Given the description of an element on the screen output the (x, y) to click on. 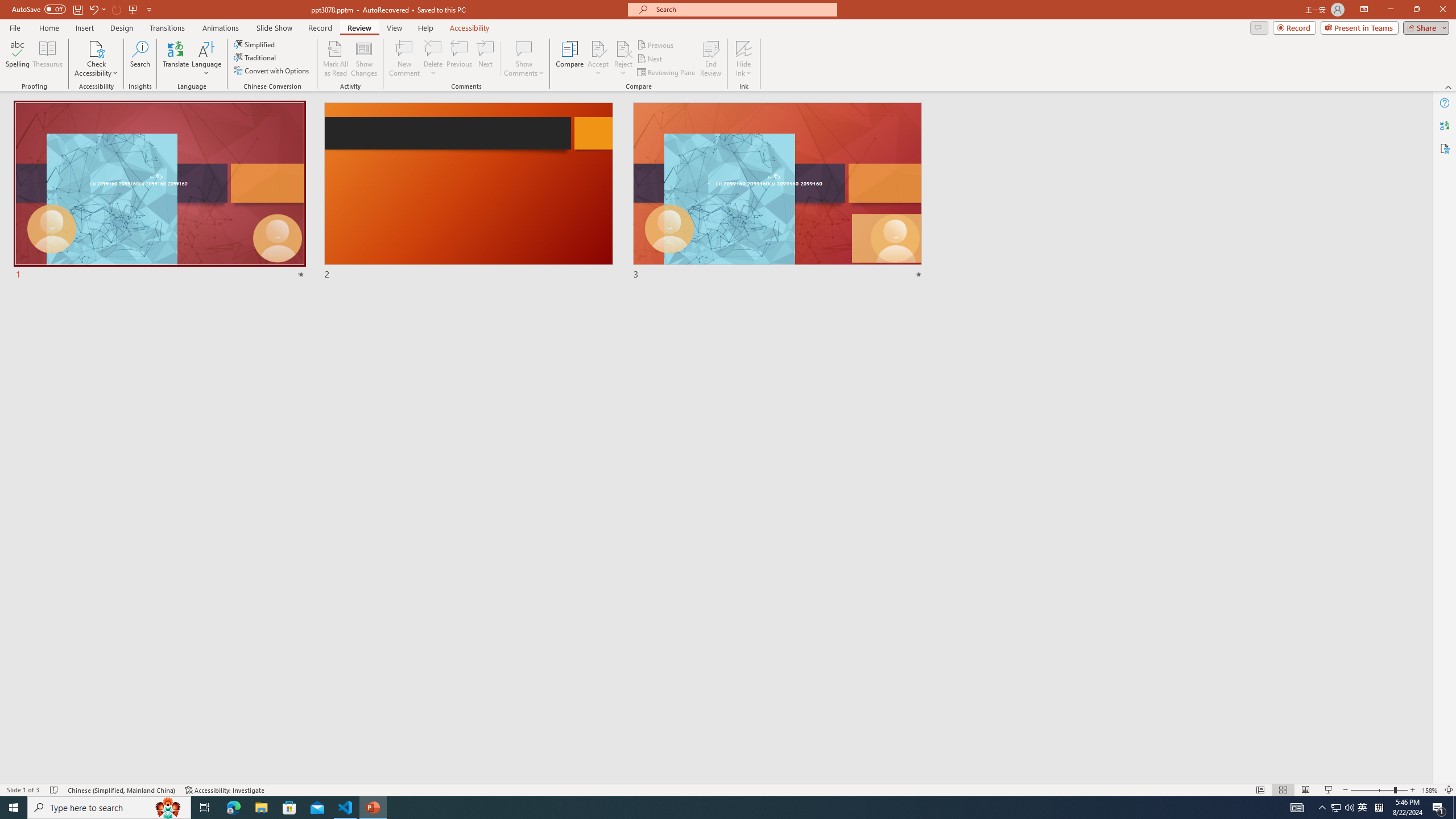
Thesaurus... (47, 58)
Translate (175, 58)
Traditional (255, 56)
End Review (710, 58)
